Given the description of an element on the screen output the (x, y) to click on. 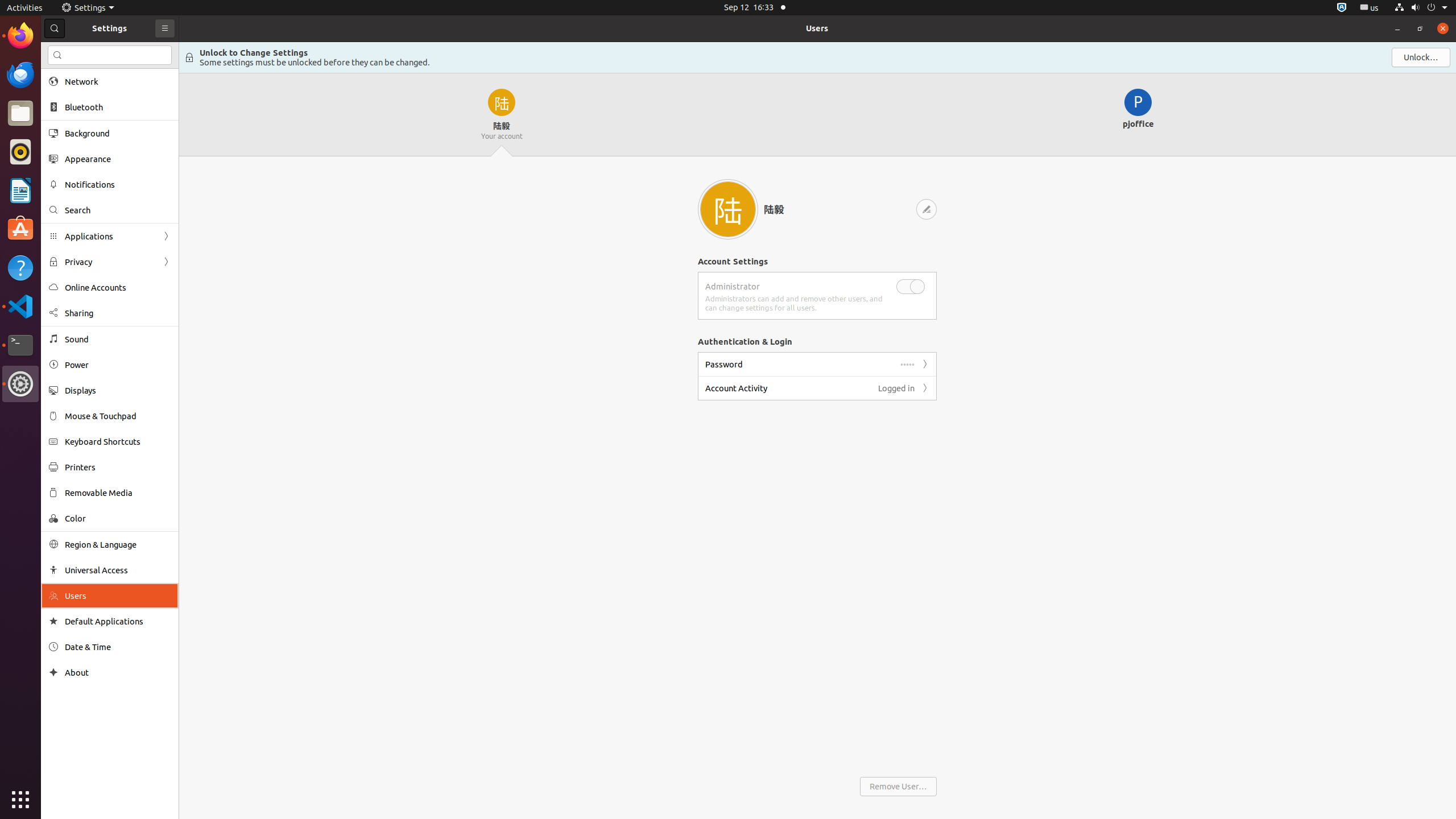
陆毅 Element type: radio-button (501, 114)
Sound Element type: label (117, 339)
Restore Element type: push-button (1419, 27)
••••• Element type: label (907, 364)
